Given the description of an element on the screen output the (x, y) to click on. 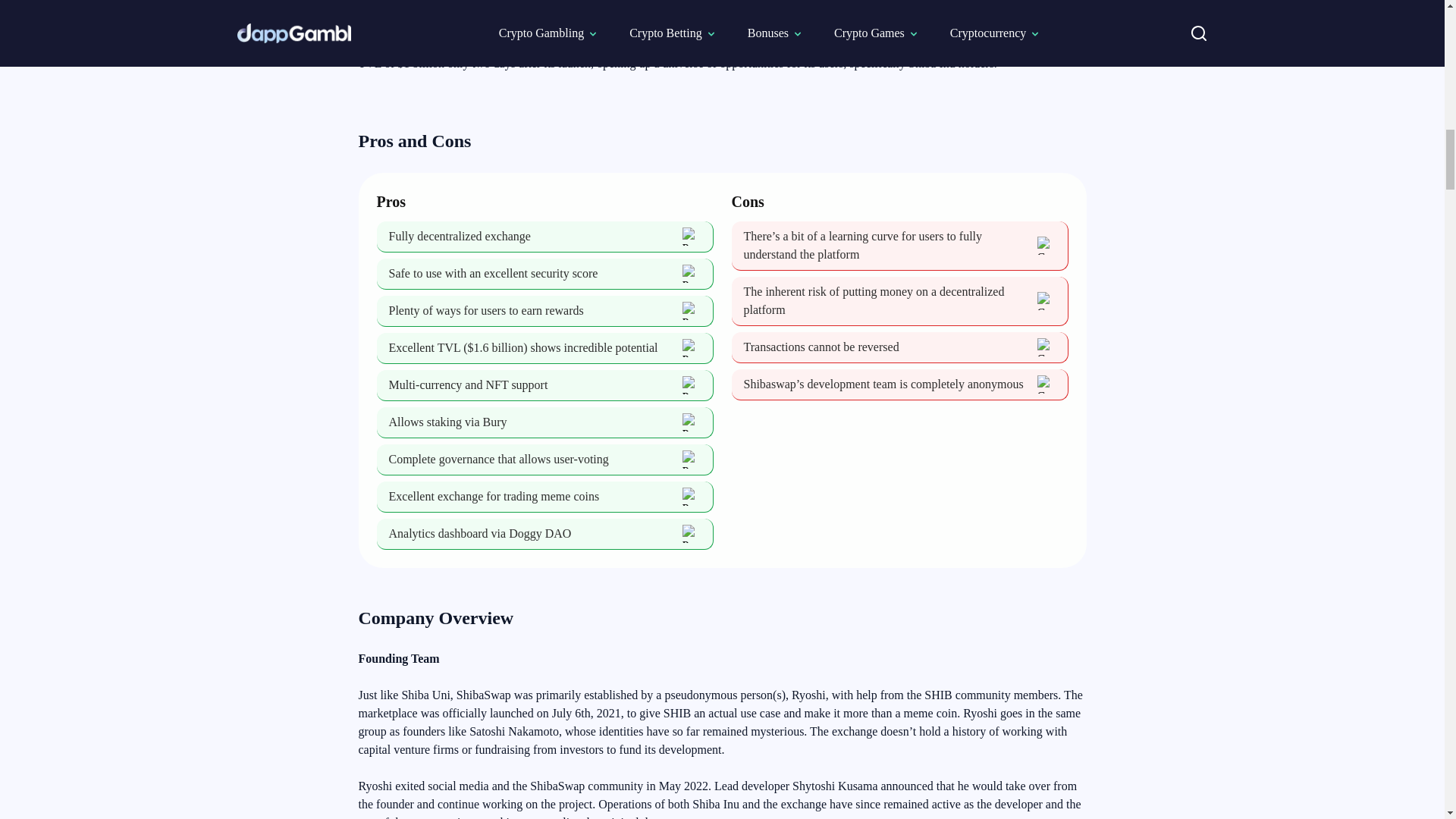
Pro (691, 459)
Pro (691, 384)
Con (1045, 384)
Pro (691, 533)
Pro (691, 311)
Con (1045, 347)
Pro (691, 422)
Con (1045, 300)
Pro (691, 496)
Con (1045, 245)
Pro (691, 273)
Pro (691, 348)
Pro (691, 236)
